Given the description of an element on the screen output the (x, y) to click on. 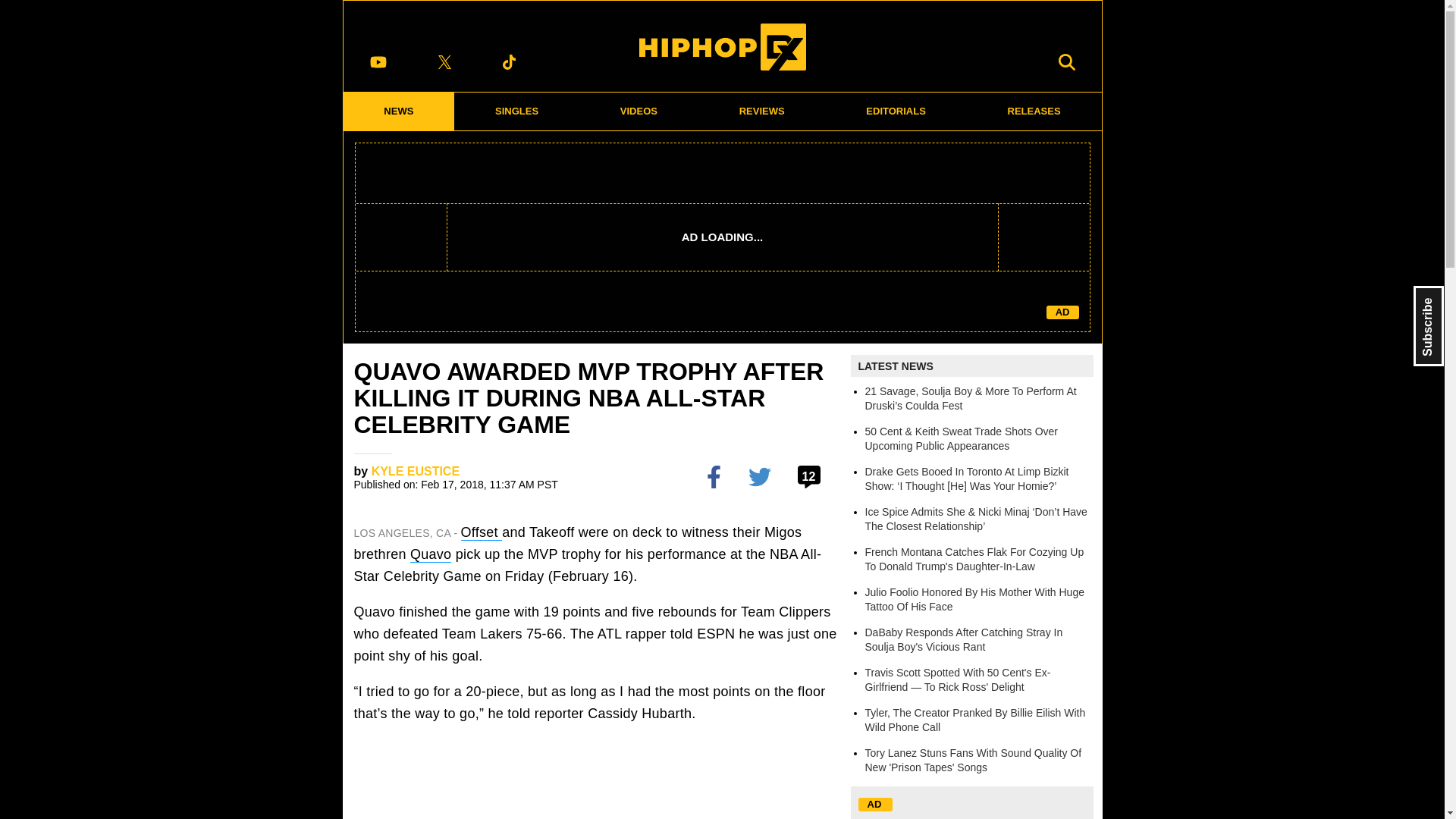
SINGLES (516, 111)
NEWS (398, 111)
Offset (481, 532)
12 (810, 477)
Quavo (430, 554)
RELEASES (1034, 111)
REVIEWS (761, 111)
KYLE EUSTICE (415, 471)
EDITORIALS (895, 111)
VIDEOS (638, 111)
